Given the description of an element on the screen output the (x, y) to click on. 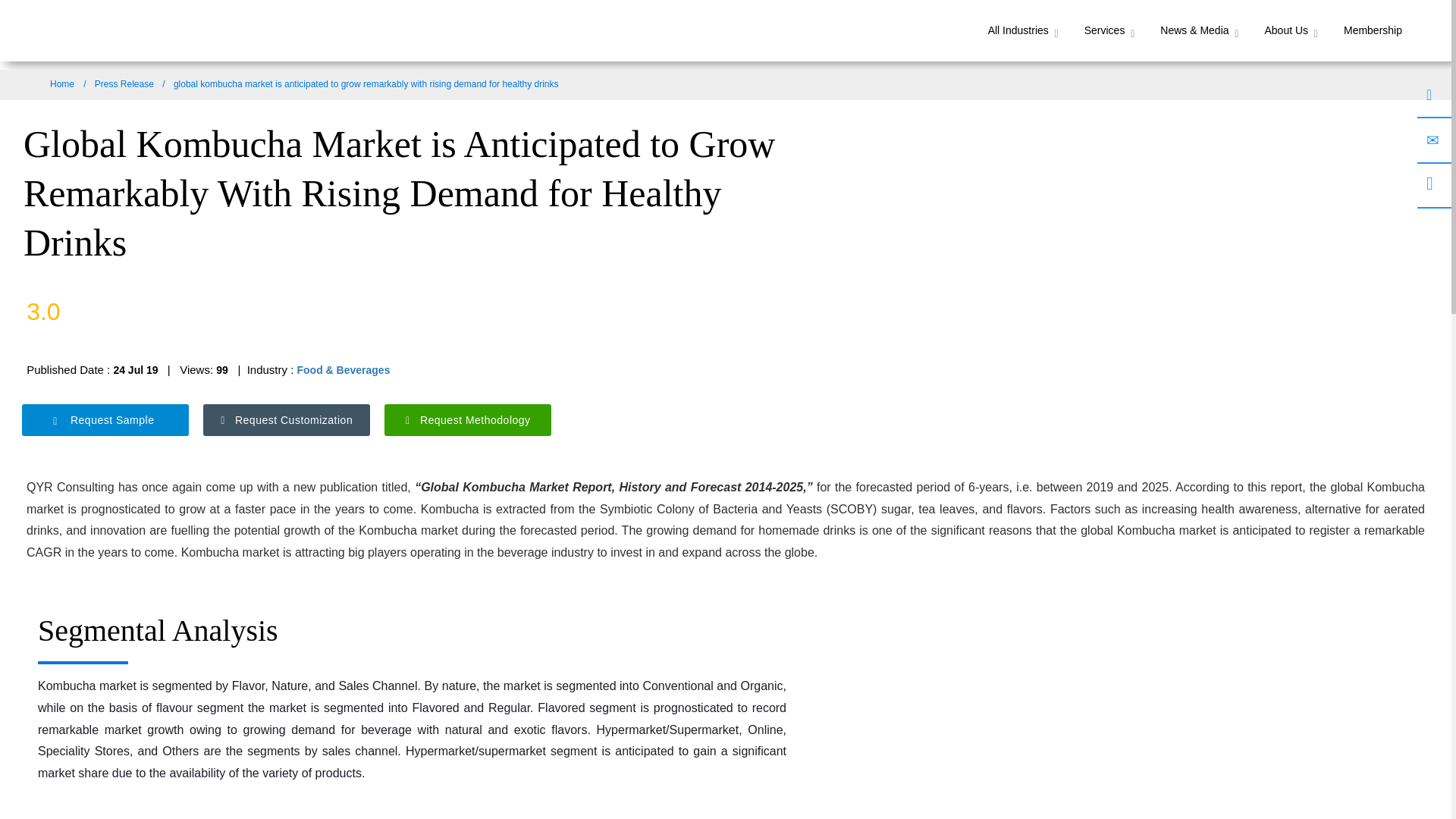
Home (61, 83)
All Industries   (1023, 30)
Services   (1109, 30)
About Us   (1290, 30)
Press Release (124, 83)
Membership (1372, 30)
